Given the description of an element on the screen output the (x, y) to click on. 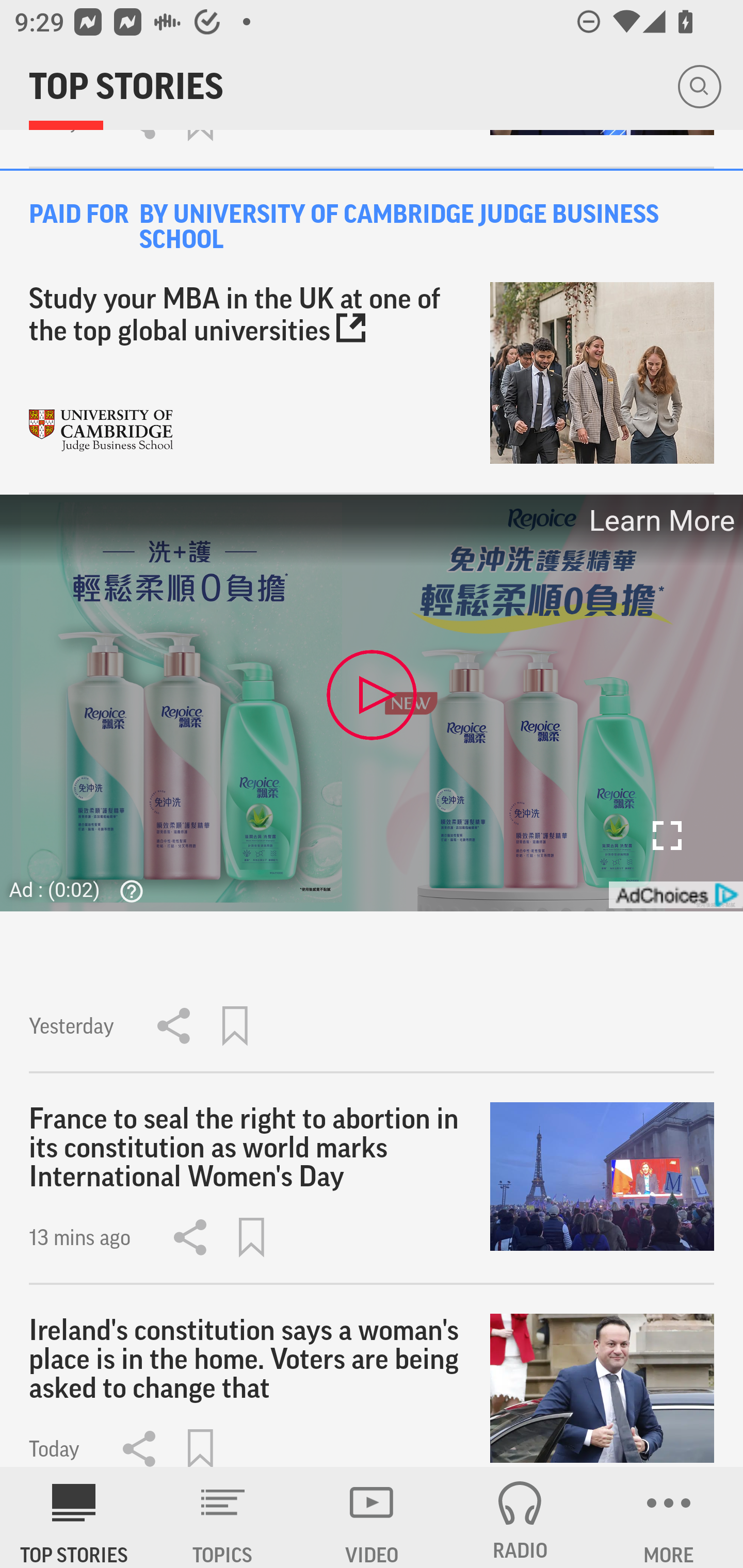
Learn More (660, 520)
Play (371, 694)
Fullscreen (666, 835)
Ad : (0:02) Why This Ad? (82, 889)
Why This Ad? (126, 891)
get?name=admarker-full-tl (675, 895)
AP News TOP STORIES (74, 1517)
TOPICS (222, 1517)
VIDEO (371, 1517)
RADIO (519, 1517)
MORE (668, 1517)
